Given the description of an element on the screen output the (x, y) to click on. 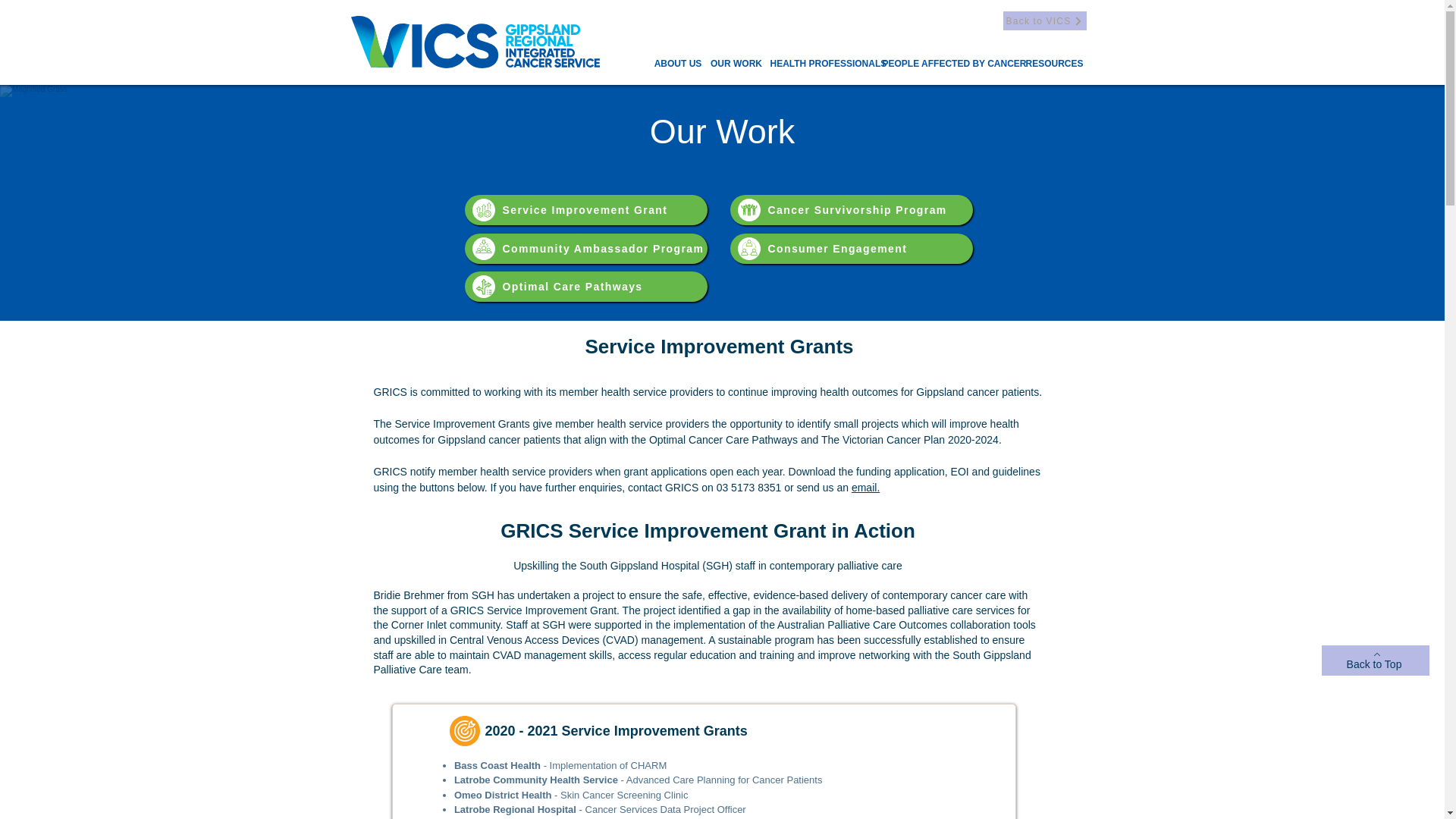
ABOUT US (678, 64)
Cancer Survivorship Program (850, 209)
Community Ambassador Program (585, 248)
HEALTH PROFESSIONALS (828, 64)
OUR WORK (735, 64)
Optimal Care Pathways (585, 286)
Consumer Engagement (850, 248)
Service Improvement Grant (585, 209)
